Given the description of an element on the screen output the (x, y) to click on. 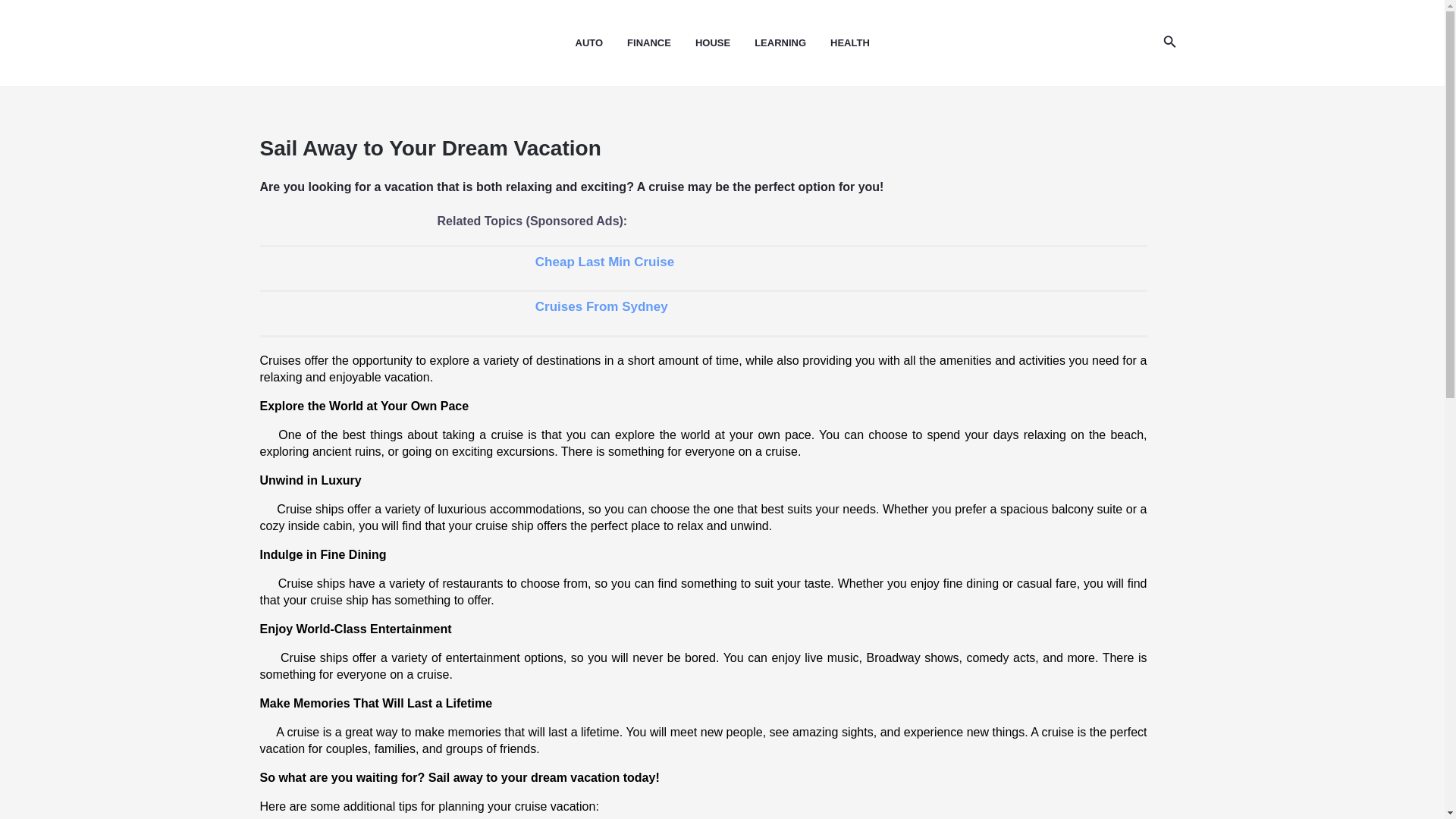
Cruises From Sydney (703, 312)
HOUSE (724, 43)
AUTO (601, 43)
LEARNING (791, 43)
HEALTH (861, 43)
Search (1169, 43)
FINANCE (661, 43)
Cheap Last Min Cruise (703, 268)
